Given the description of an element on the screen output the (x, y) to click on. 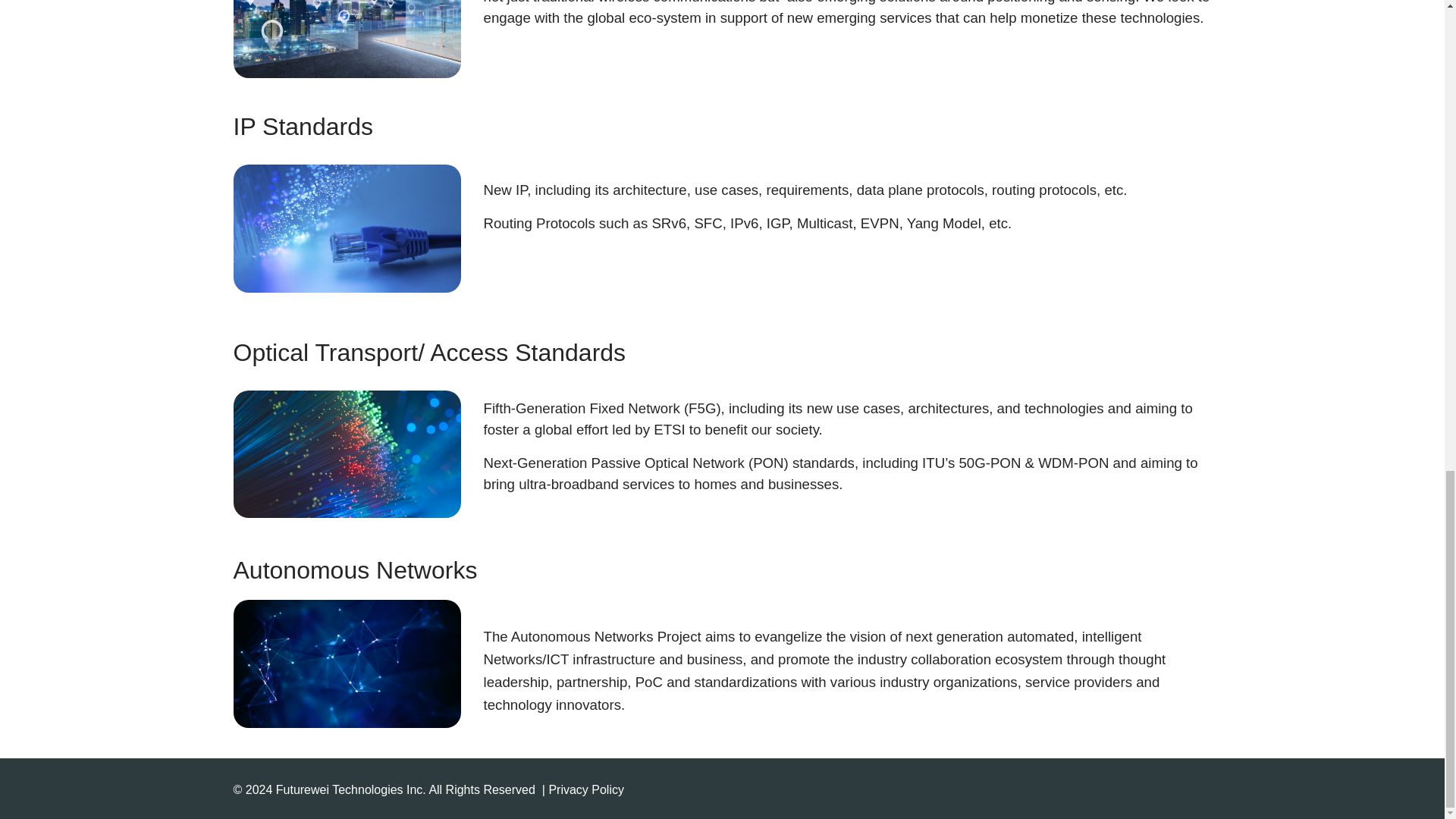
Privacy Policy (586, 789)
